Given the description of an element on the screen output the (x, y) to click on. 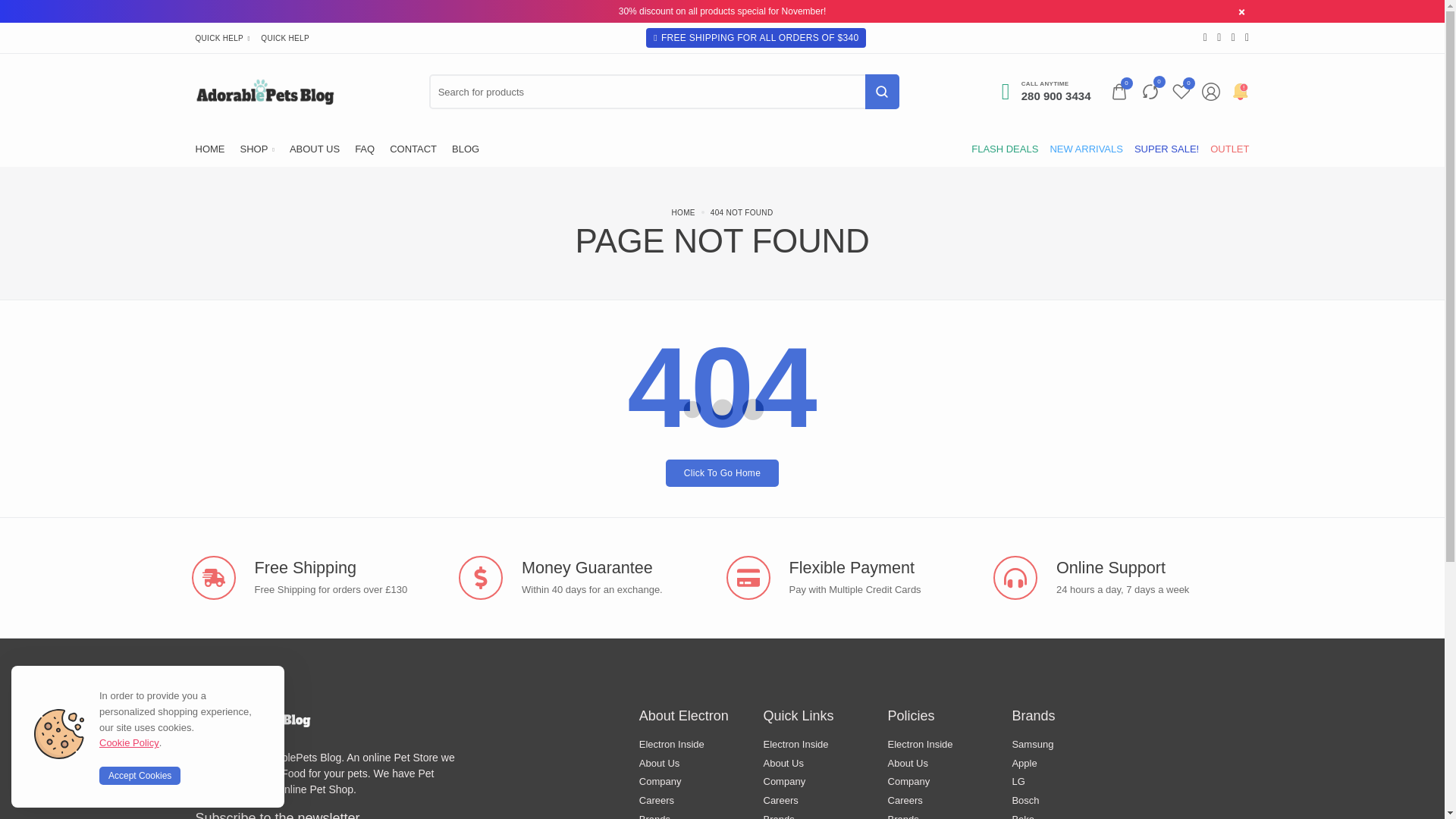
0 (1045, 91)
Search for products (1149, 91)
